Given the description of an element on the screen output the (x, y) to click on. 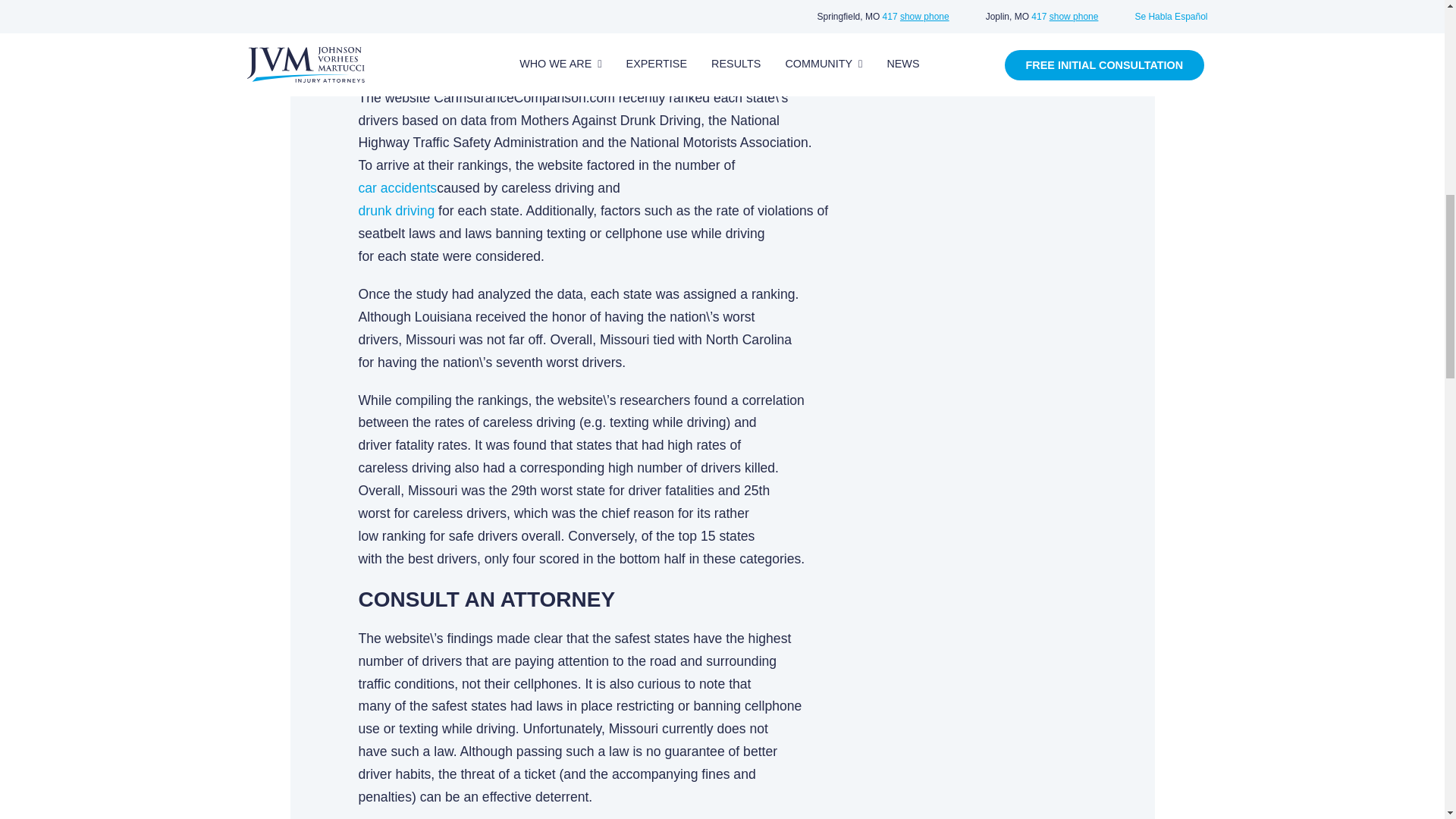
drunk driving (395, 210)
car accidents (397, 187)
